Given the description of an element on the screen output the (x, y) to click on. 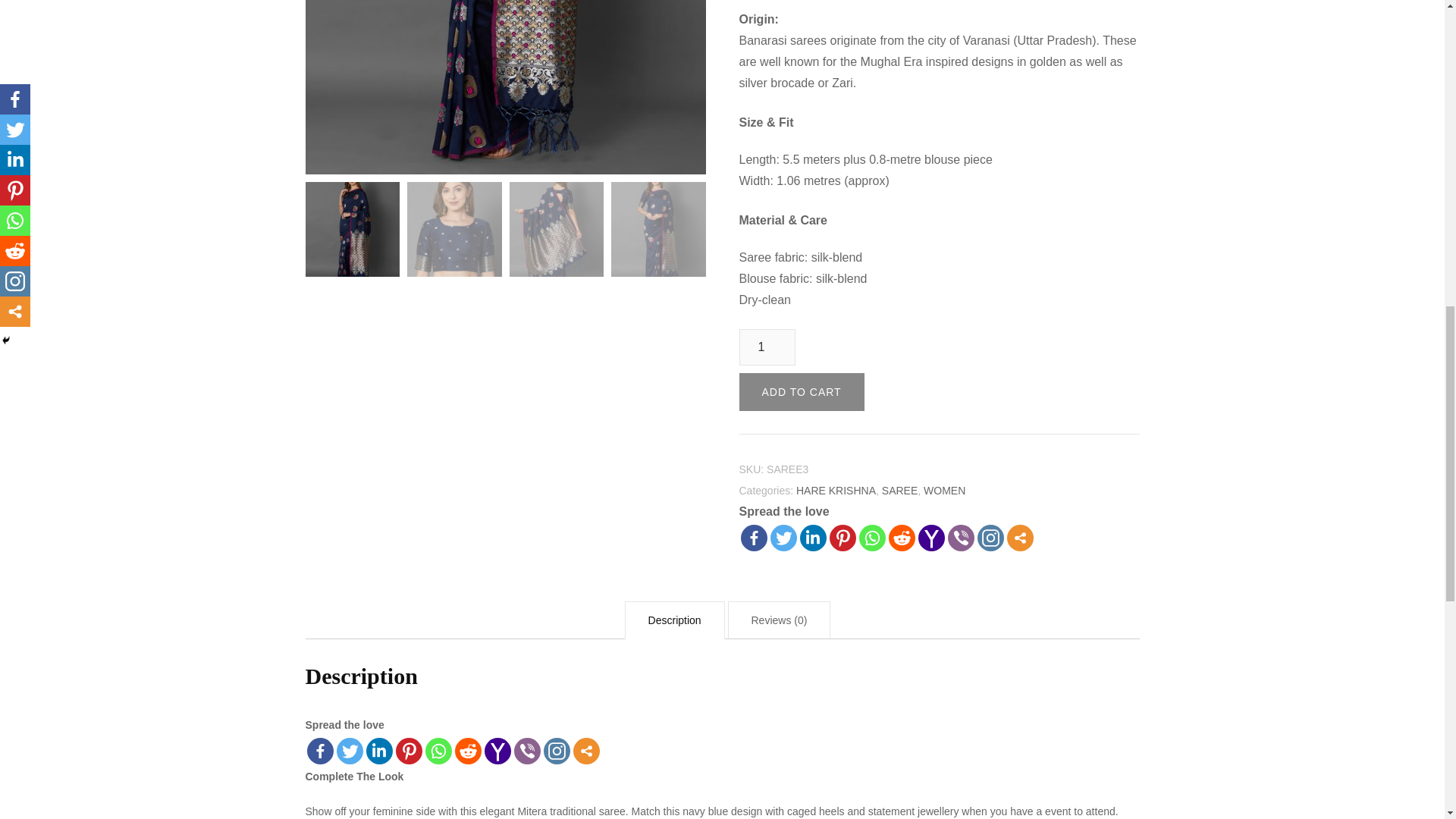
Pinterest (842, 537)
Viber (960, 537)
Instagram (989, 537)
Facebook (753, 537)
Qty (766, 347)
Reddit (901, 537)
Yahoo Mail (930, 537)
Whatsapp (872, 537)
1 (766, 347)
Linkedin (812, 537)
4aa8313e-588a-466a-9911-3e0e43c769161565400642425-3 (504, 87)
Twitter (783, 537)
